Given the description of an element on the screen output the (x, y) to click on. 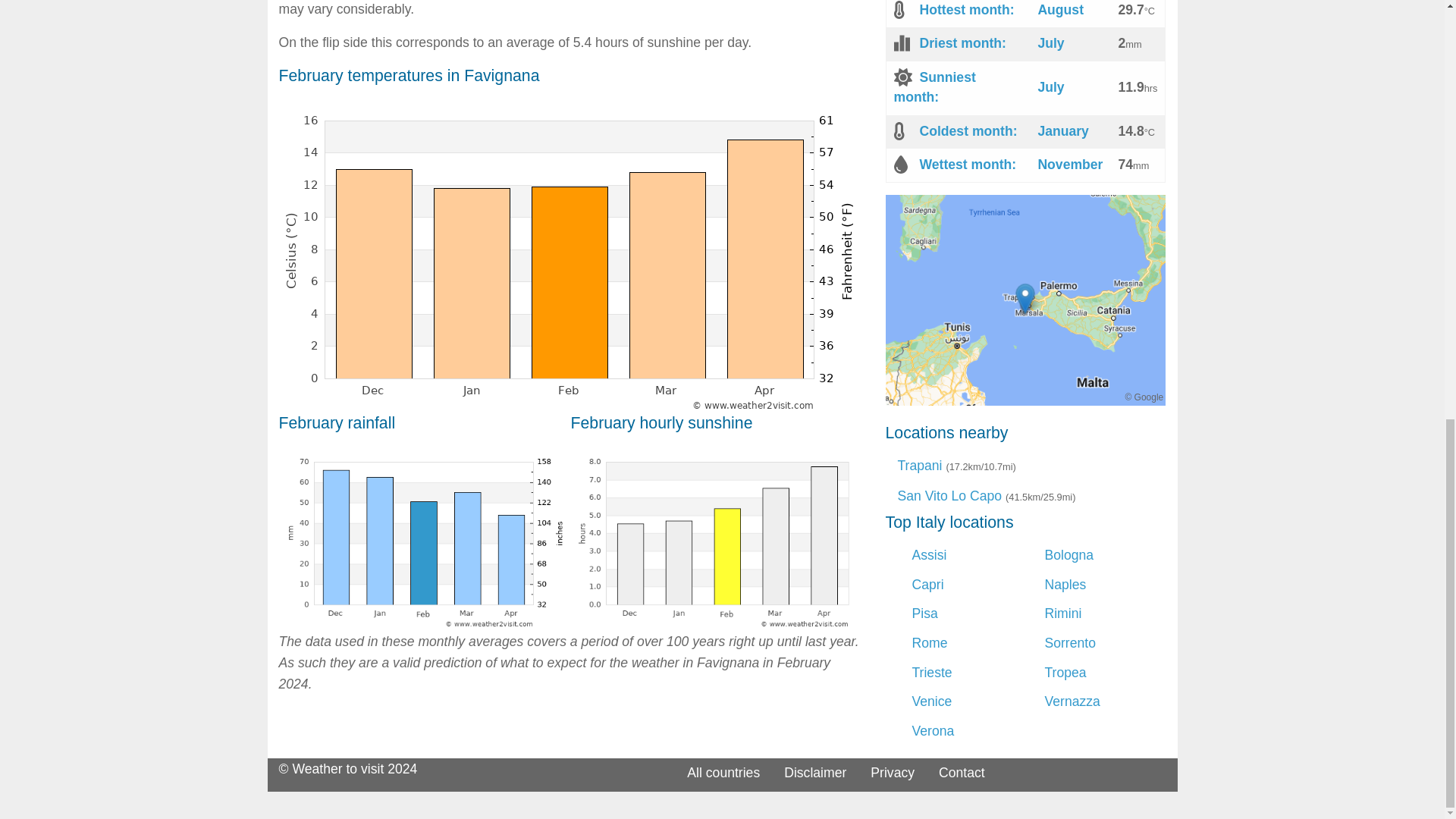
Hottest month: (965, 9)
July (1050, 43)
August (1059, 9)
July (1050, 87)
Coldest month: (967, 130)
Sunniest month: (934, 86)
Driest month: (962, 43)
